Given the description of an element on the screen output the (x, y) to click on. 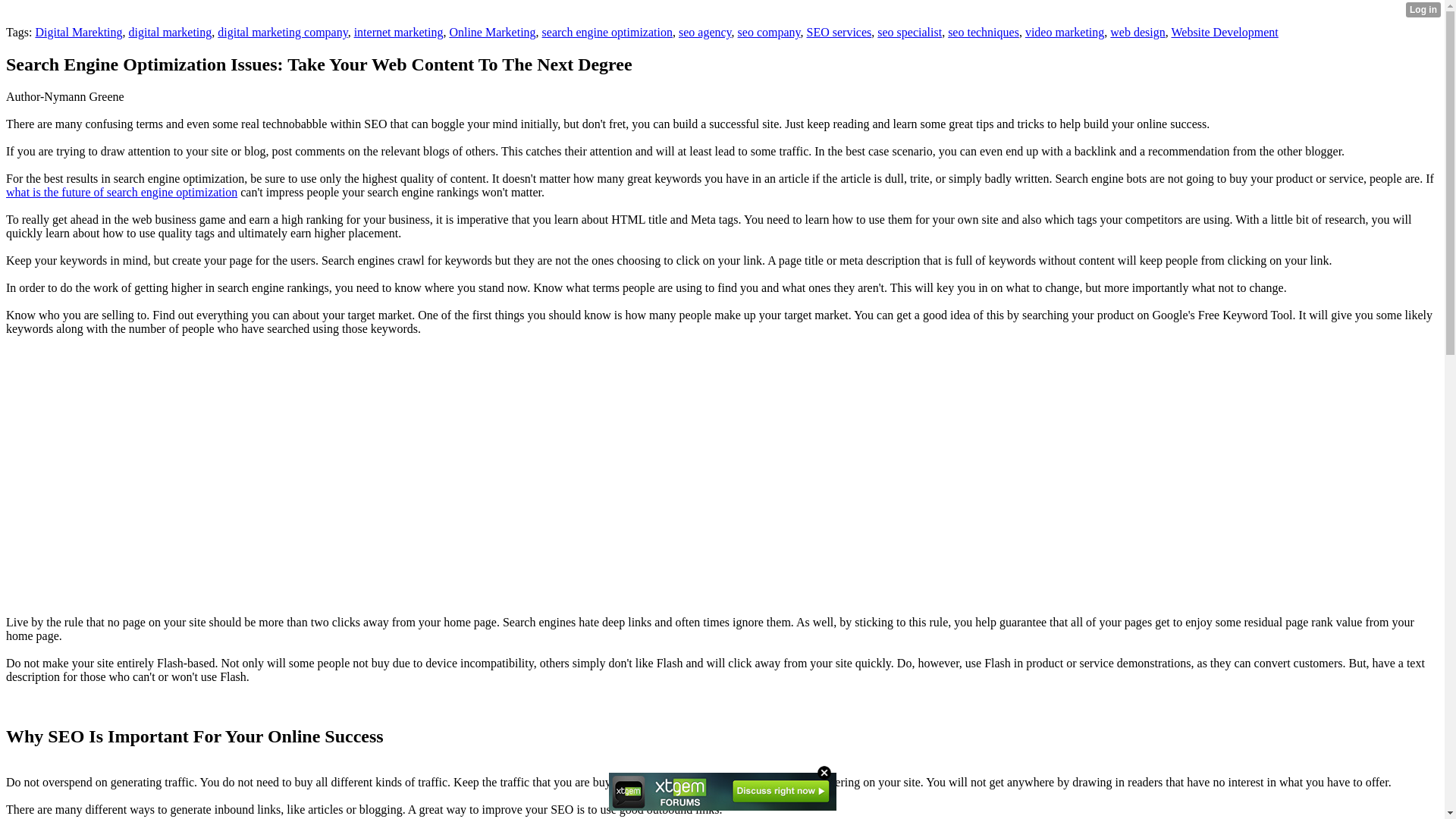
seo techniques (983, 31)
Digital Marekting (78, 31)
digital marketing (170, 31)
what is the future of search engine optimization (121, 192)
search engine optimization (606, 31)
seo agency (705, 31)
SEO services (839, 31)
Online Marketing (491, 31)
seo company (769, 31)
digital marketing company (281, 31)
